Given the description of an element on the screen output the (x, y) to click on. 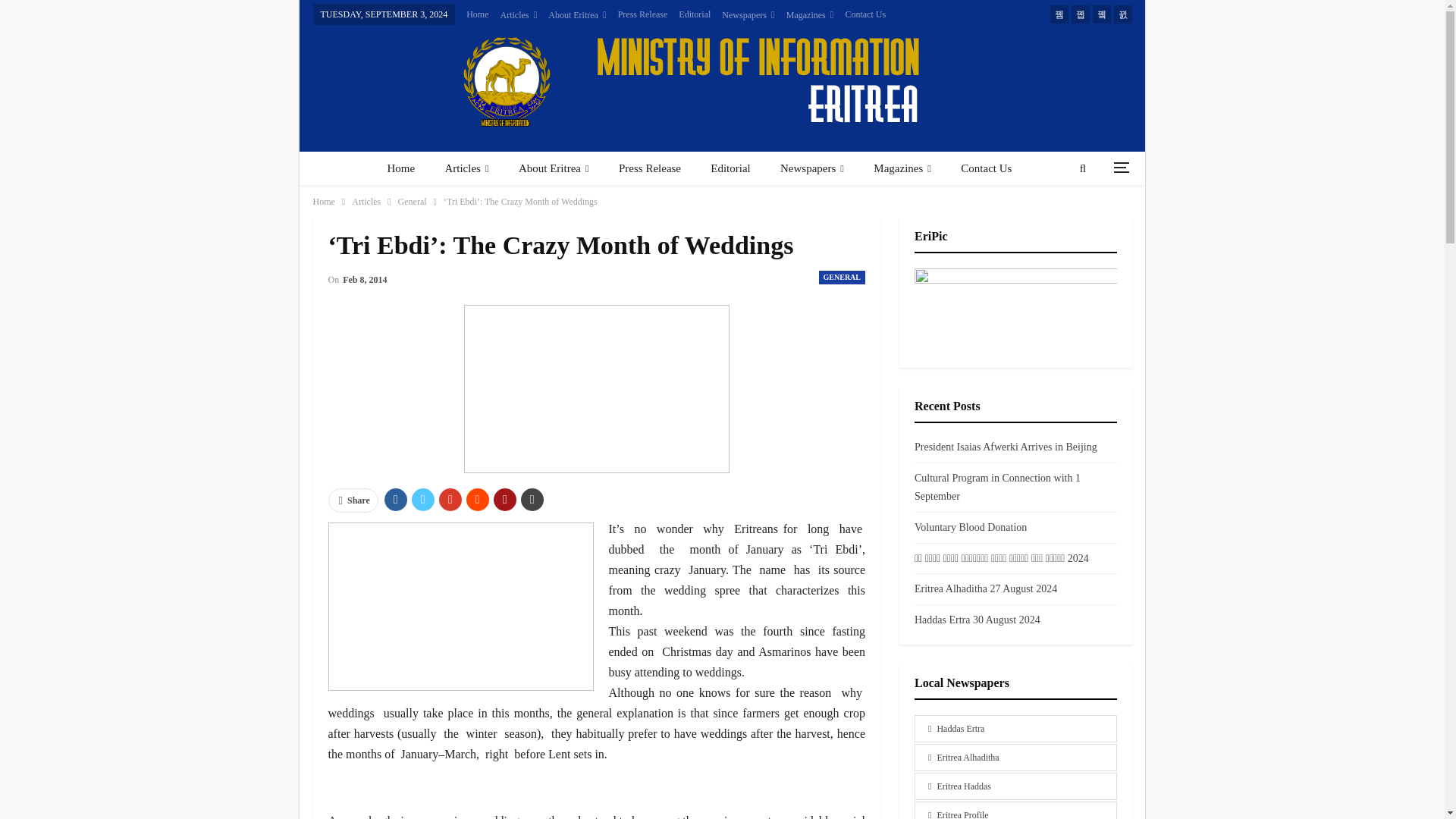
Press Release (642, 14)
Magazines (810, 14)
Home (476, 14)
Home (400, 168)
Articles (518, 14)
Newspapers (748, 14)
Editorial (694, 14)
Articles (466, 168)
Contact Us (864, 14)
About Eritrea (576, 14)
